Given the description of an element on the screen output the (x, y) to click on. 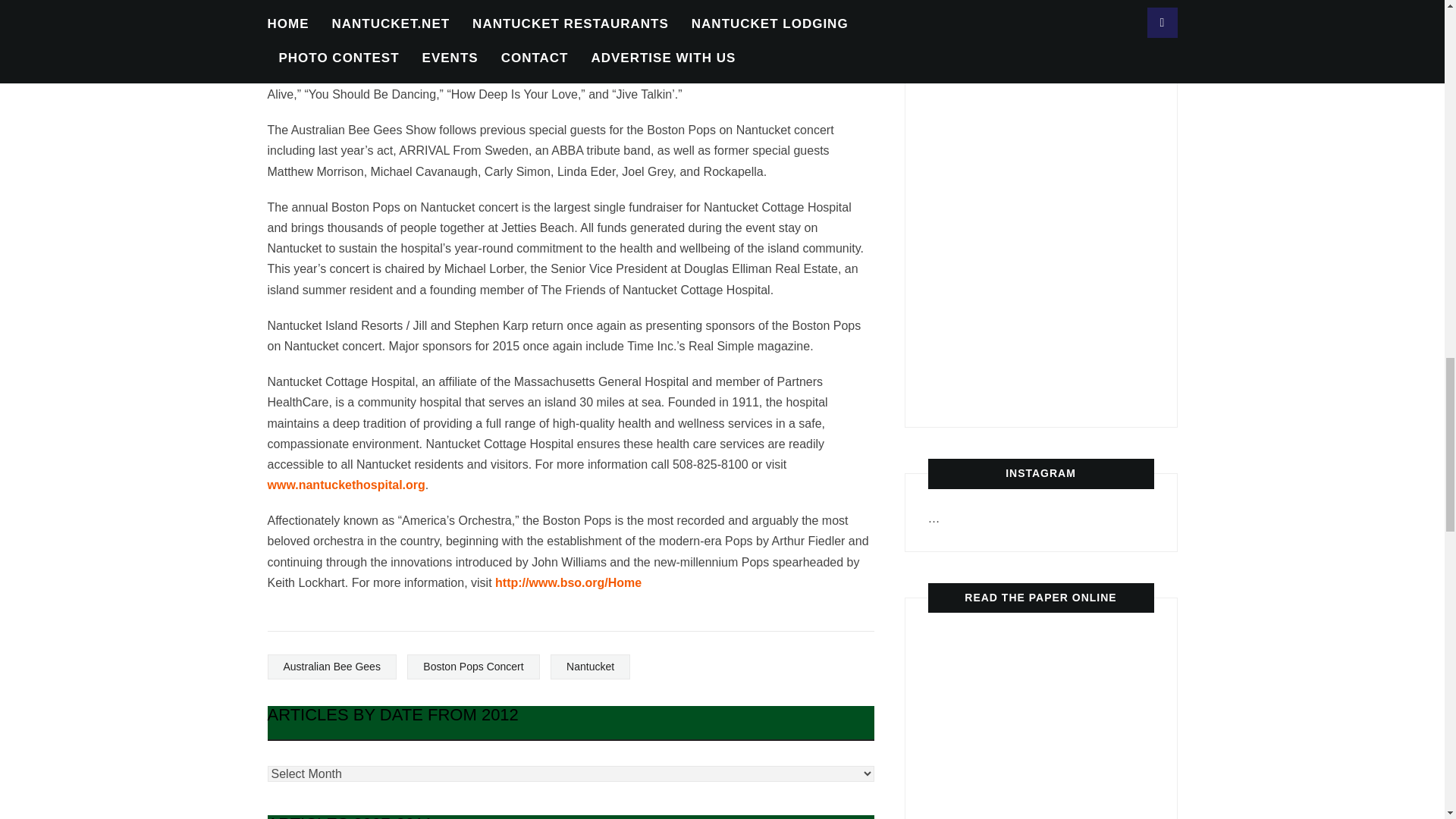
Nantucket (590, 666)
Boston Pops Concert (472, 666)
www.nantuckethospital.org (345, 484)
Australian Bee Gees (331, 666)
